Given the description of an element on the screen output the (x, y) to click on. 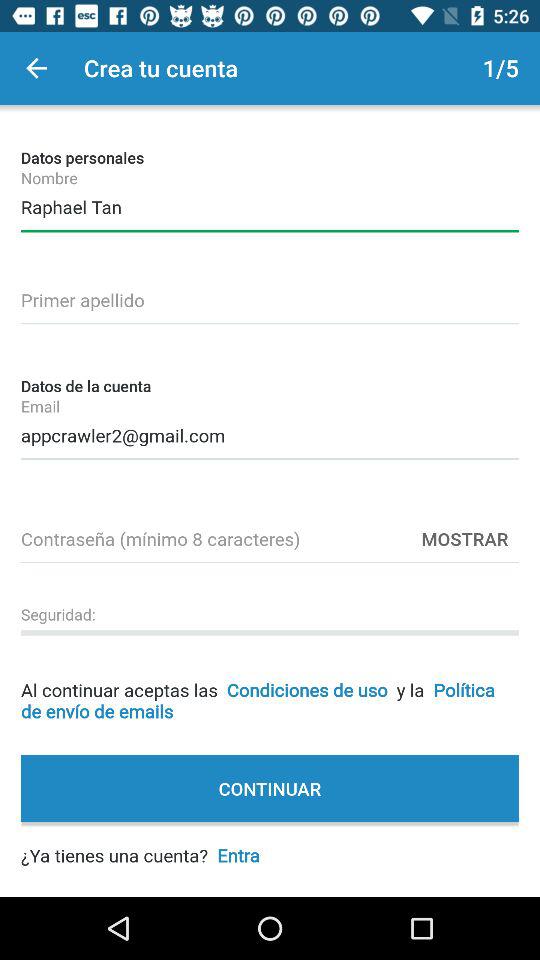
choose the appcrawler2@gmail.com item (270, 432)
